Given the description of an element on the screen output the (x, y) to click on. 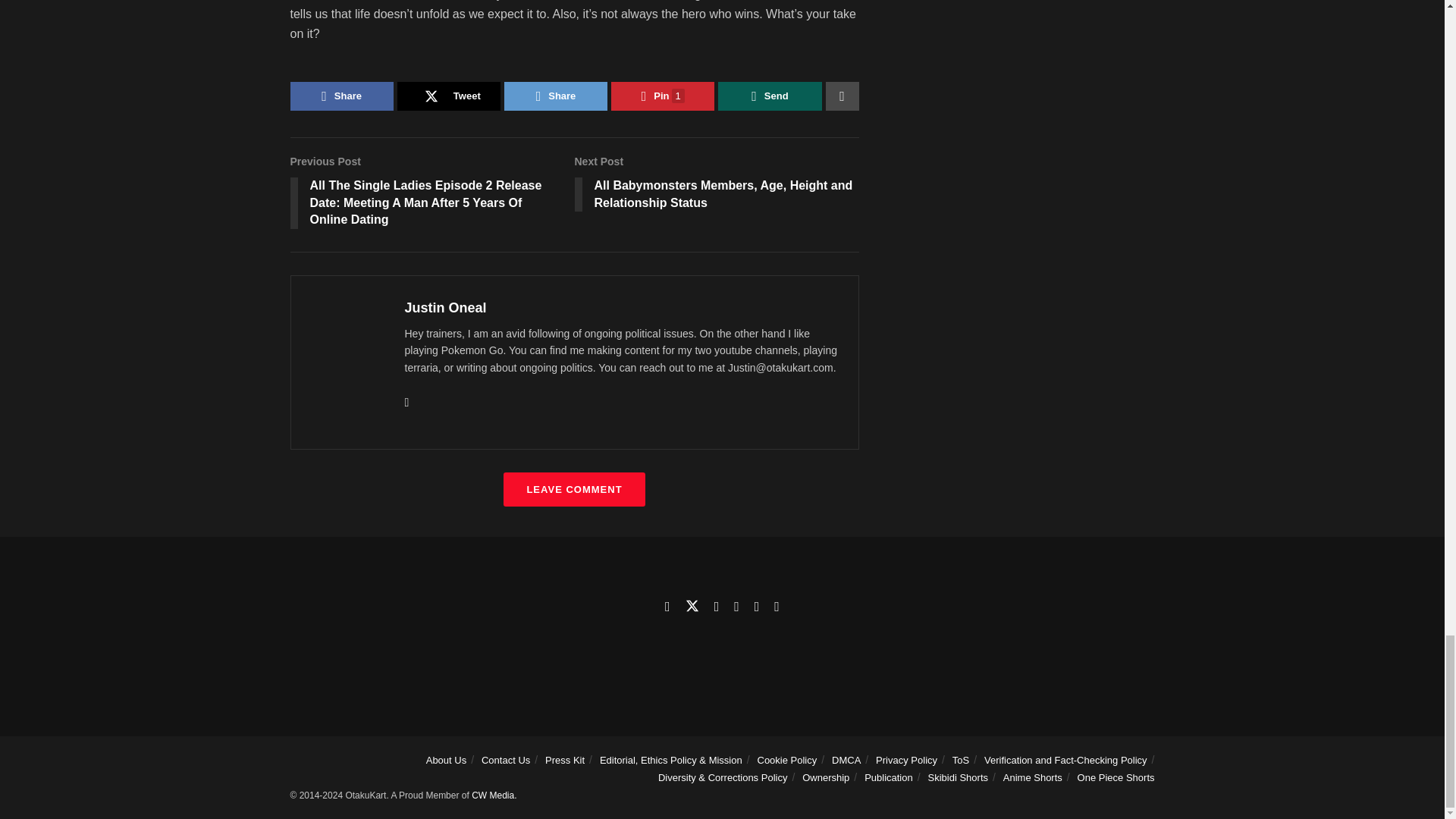
Send (769, 95)
Tweet (448, 95)
Share (555, 95)
Pin1 (662, 95)
Justin Oneal (445, 307)
Share (341, 95)
